Given the description of an element on the screen output the (x, y) to click on. 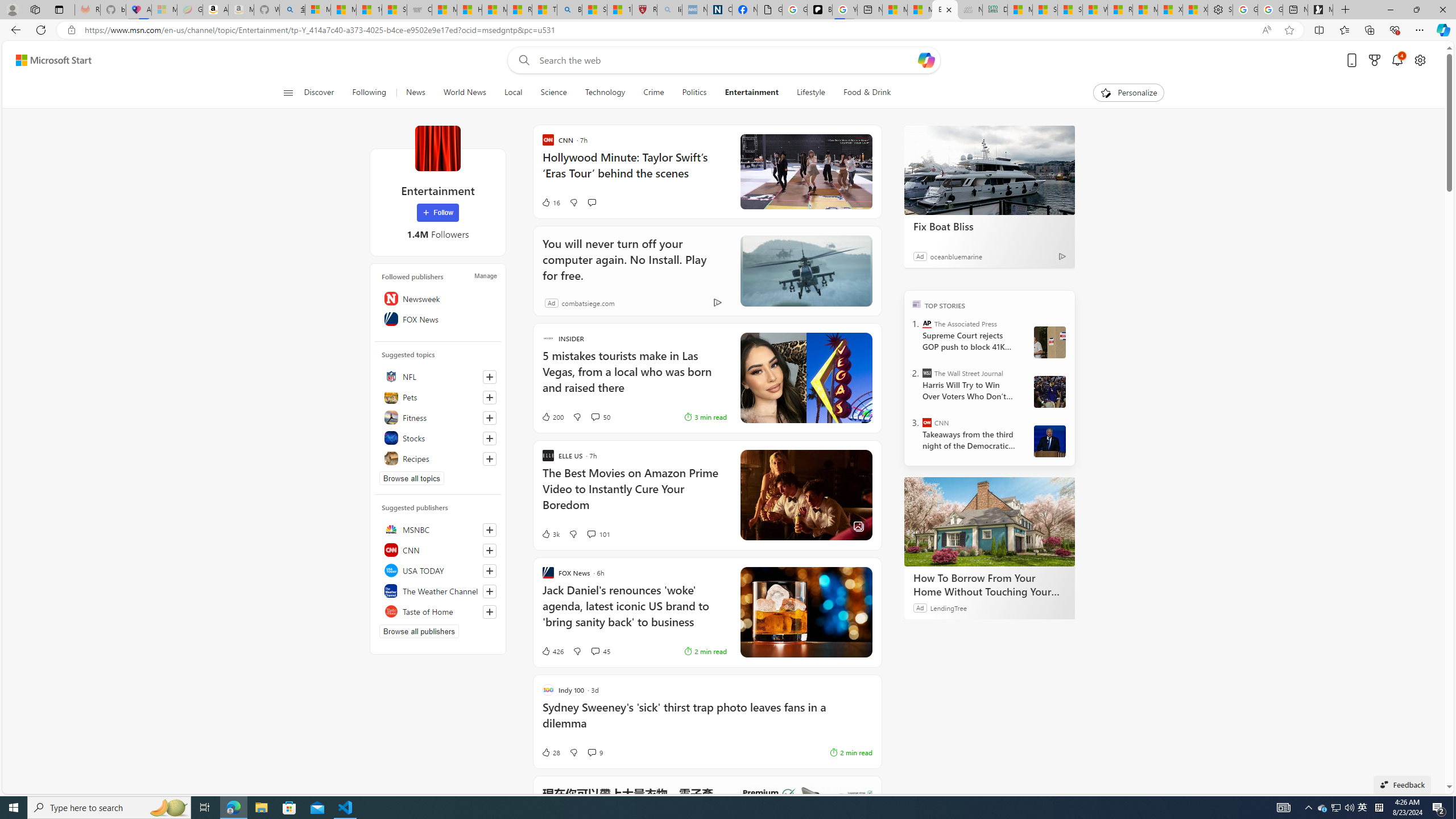
The Wall Street Journal (927, 372)
Be Smart | creating Science videos | Patreon (819, 9)
Web search (520, 60)
View comments 45 Comment (599, 650)
16 Like (549, 202)
CNN (927, 422)
